Given the description of an element on the screen output the (x, y) to click on. 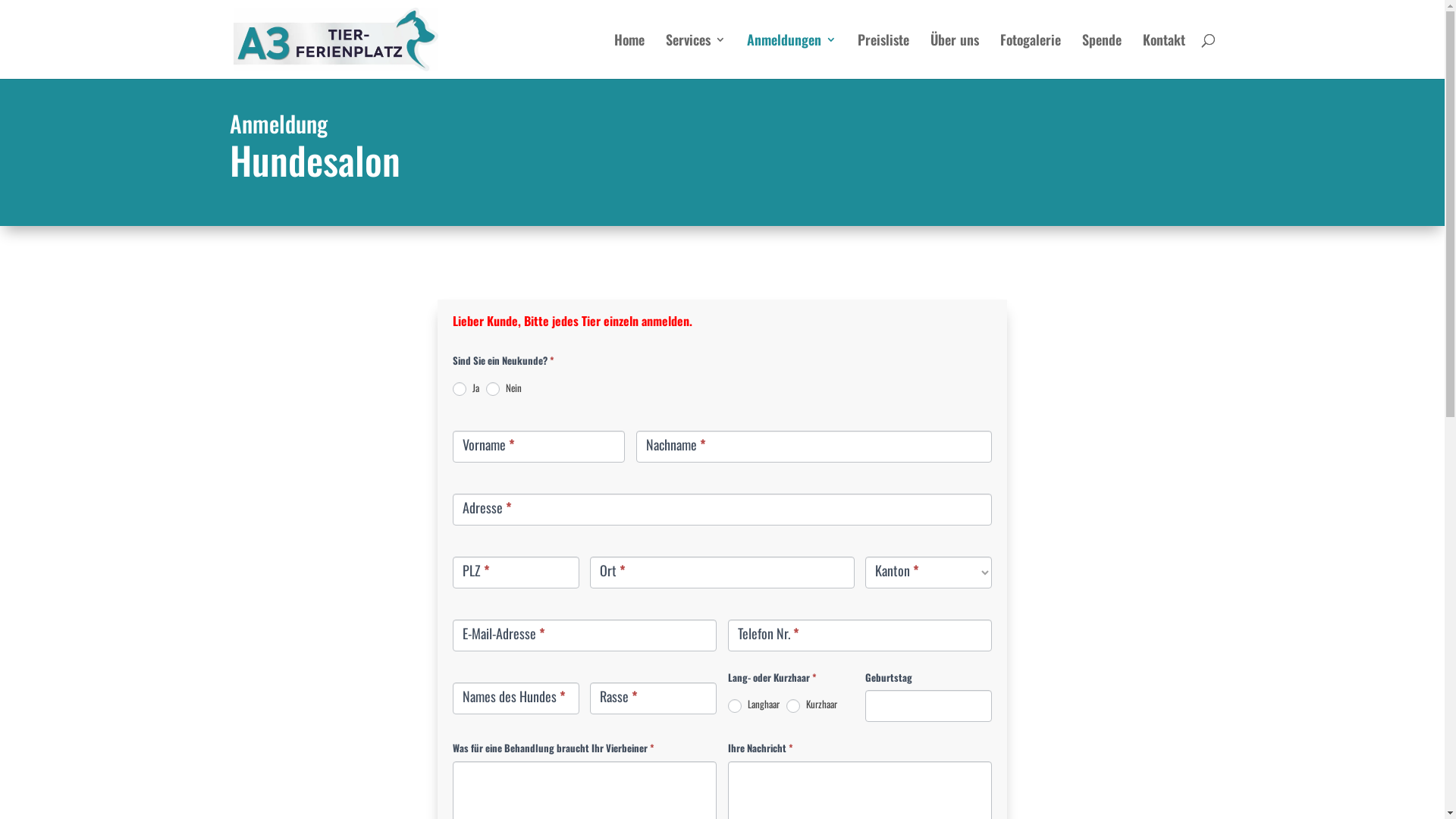
Preisliste Element type: text (882, 56)
Anmeldungen Element type: text (790, 56)
Services Element type: text (695, 56)
Fotogalerie Element type: text (1029, 56)
Home Element type: text (629, 56)
Spende Element type: text (1100, 56)
Kontakt Element type: text (1163, 56)
